Given the description of an element on the screen output the (x, y) to click on. 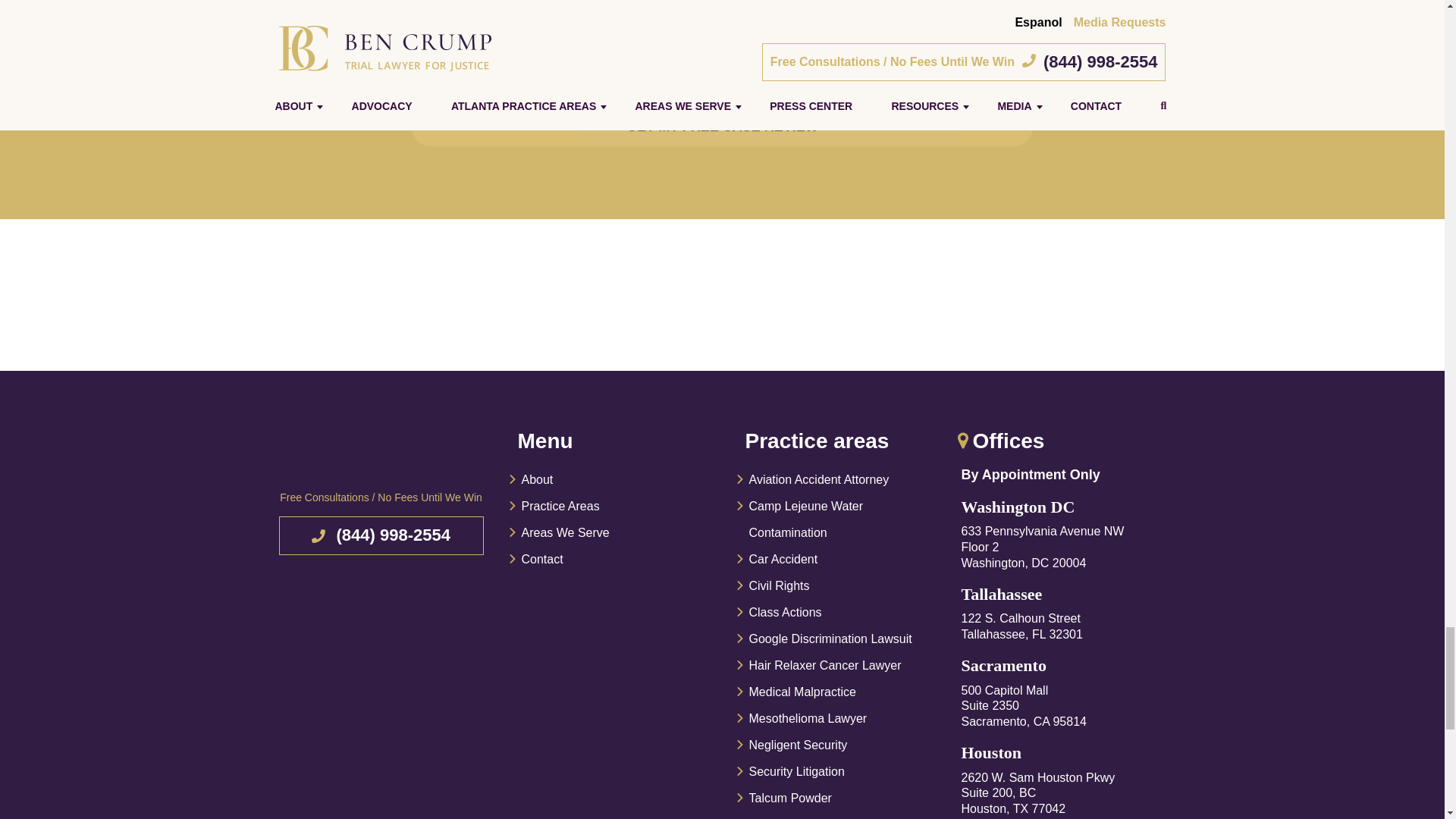
GET MY FREE CASE REVIEW (722, 127)
